Given the description of an element on the screen output the (x, y) to click on. 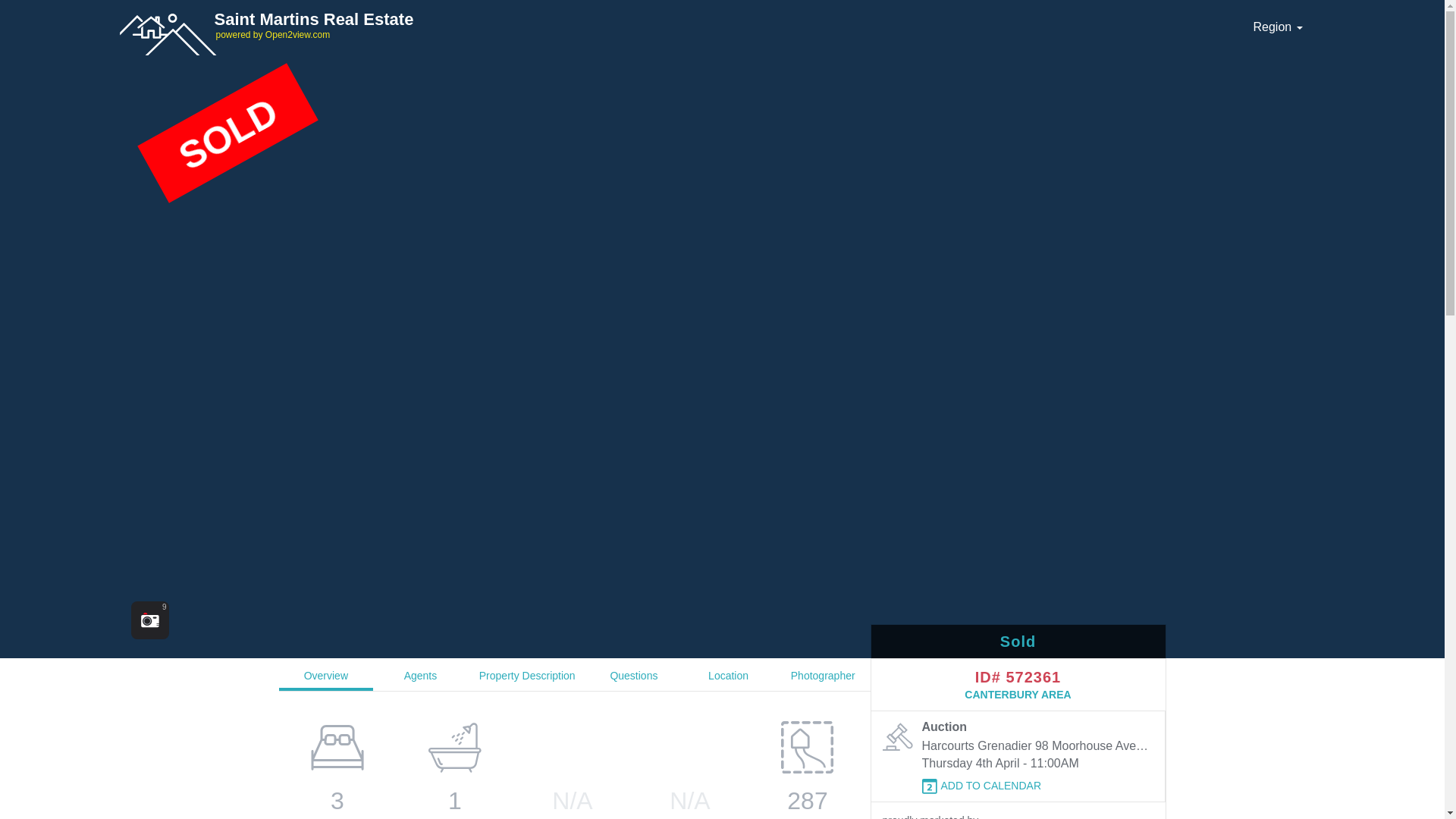
Saint Martins Real Estate (369, 19)
